Given the description of an element on the screen output the (x, y) to click on. 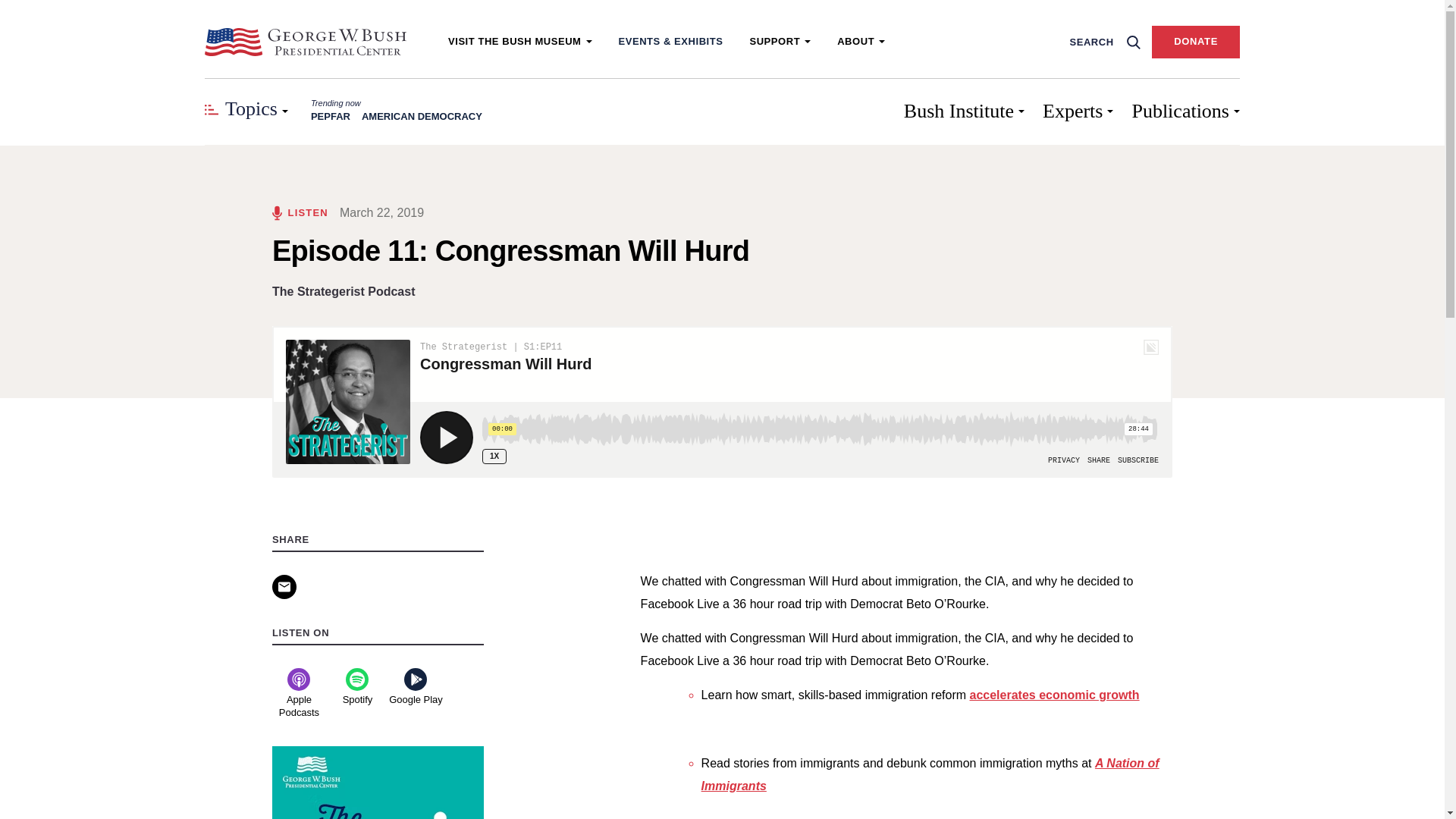
SUPPORT (779, 41)
Topics (246, 111)
ABOUT (860, 41)
DONATE (1195, 41)
SEARCH (1100, 41)
The George W. Bush Presidential Center homepage (305, 41)
VISIT THE BUSH MUSEUM (520, 41)
